Given the description of an element on the screen output the (x, y) to click on. 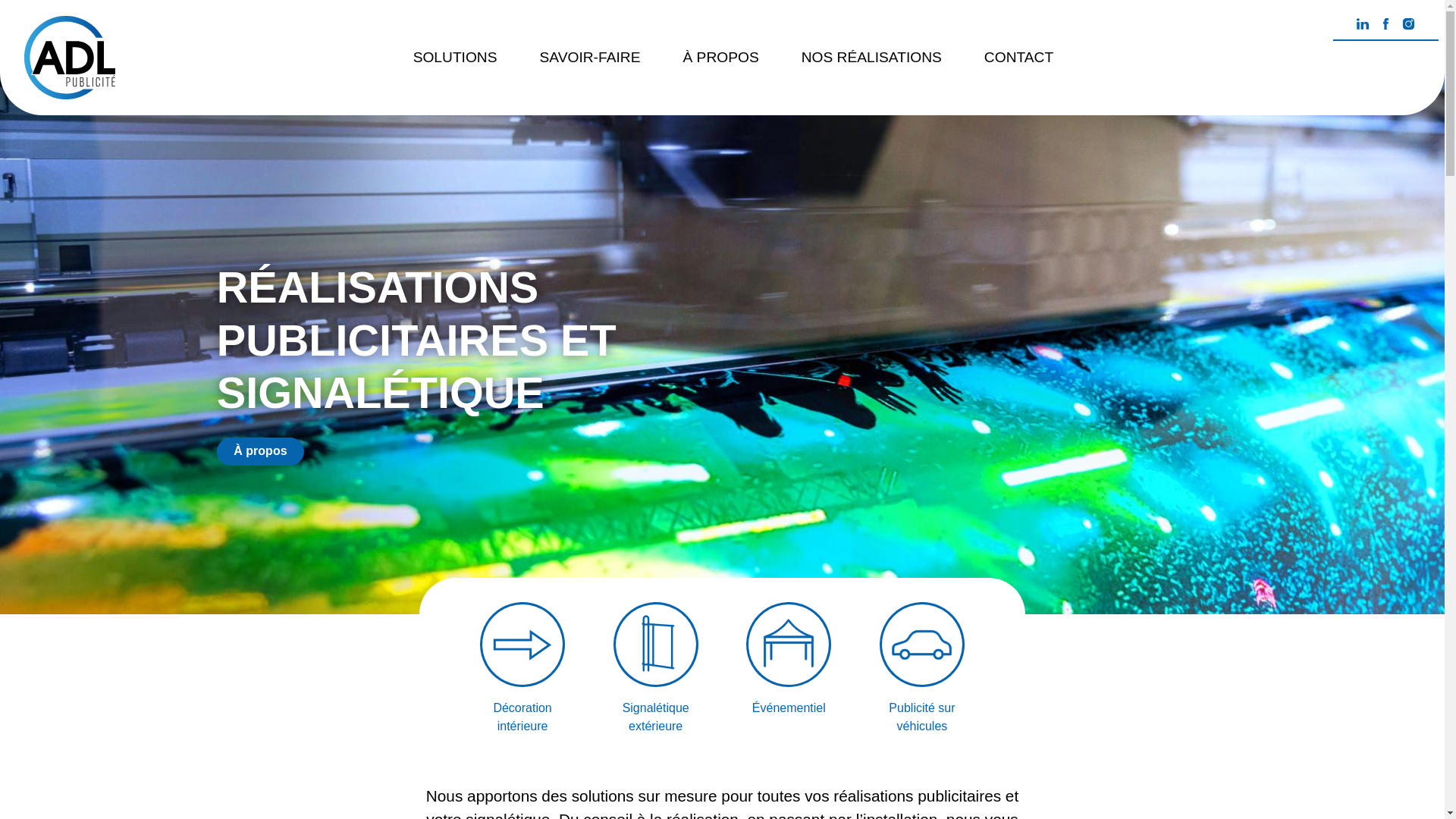
SAVOIR-FAIRE Element type: text (589, 57)
CONTACT Element type: text (1018, 57)
SOLUTIONS Element type: text (455, 57)
